Given the description of an element on the screen output the (x, y) to click on. 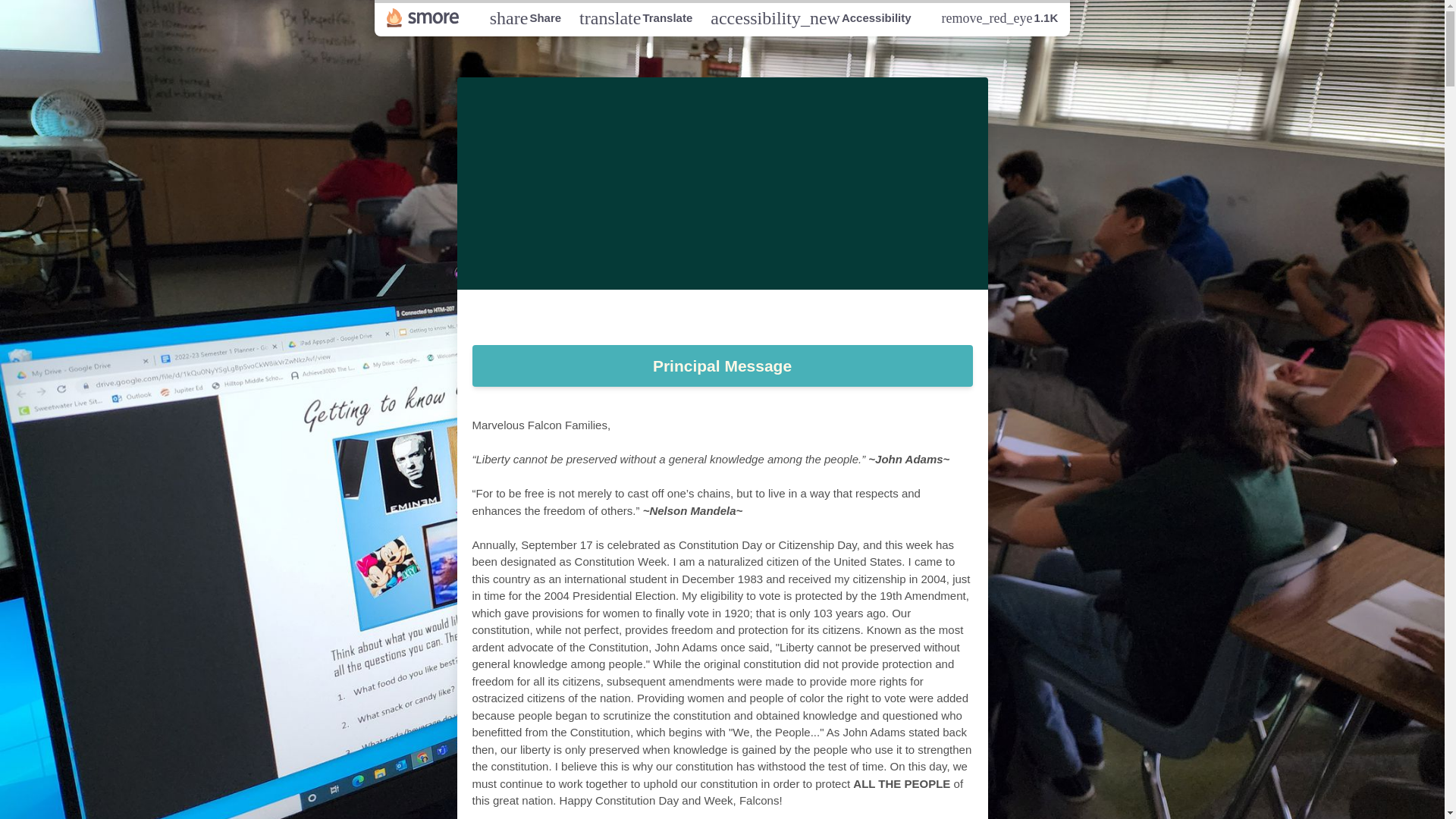
10 (699, 316)
September (785, 316)
Issue (657, 316)
Principal Message (636, 18)
18, (524, 18)
2023 (721, 365)
Volume (857, 316)
